Given the description of an element on the screen output the (x, y) to click on. 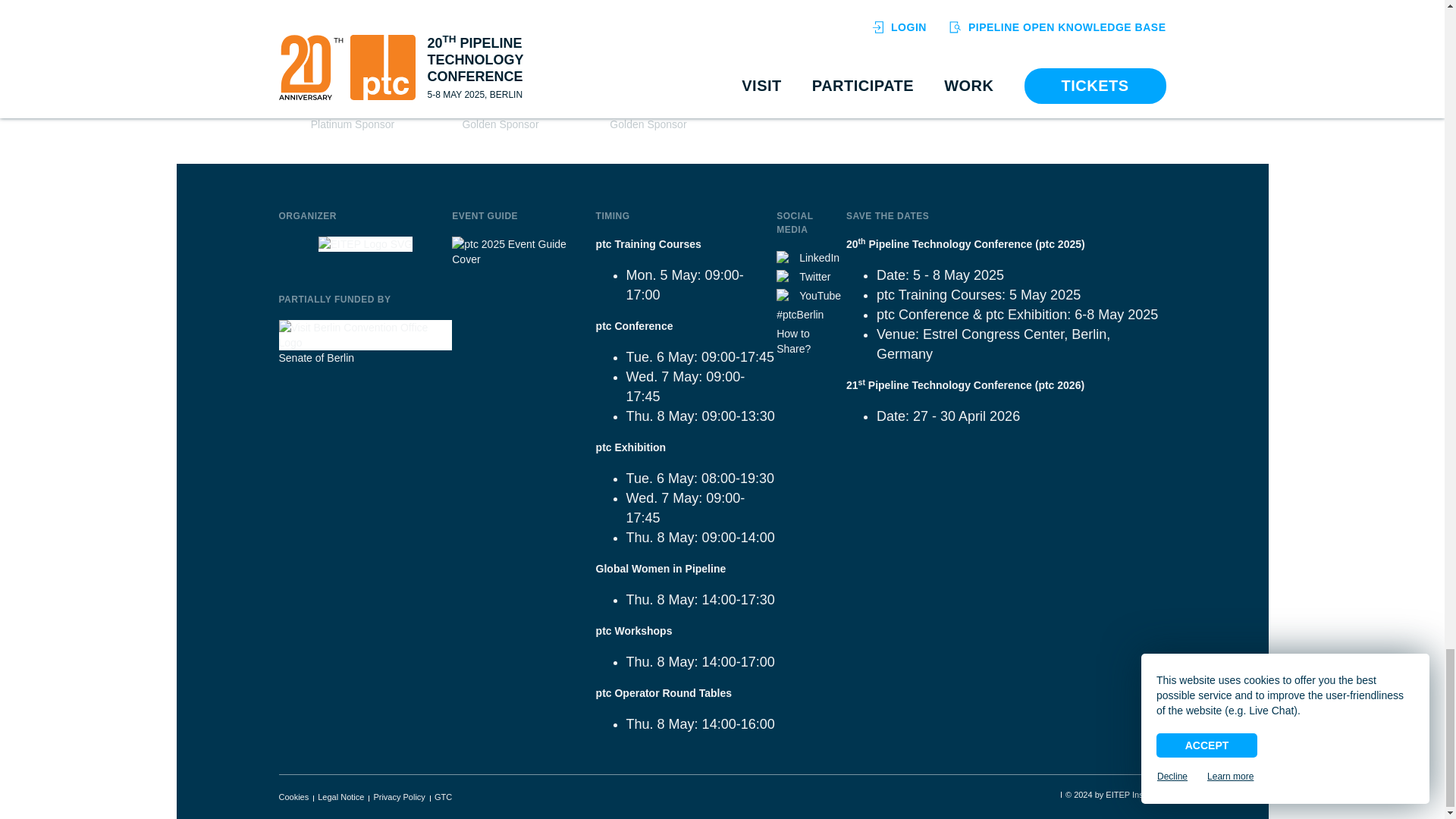
DENSO (647, 109)
T.D. Williamson (500, 109)
EITEP GTC (442, 796)
